Given the description of an element on the screen output the (x, y) to click on. 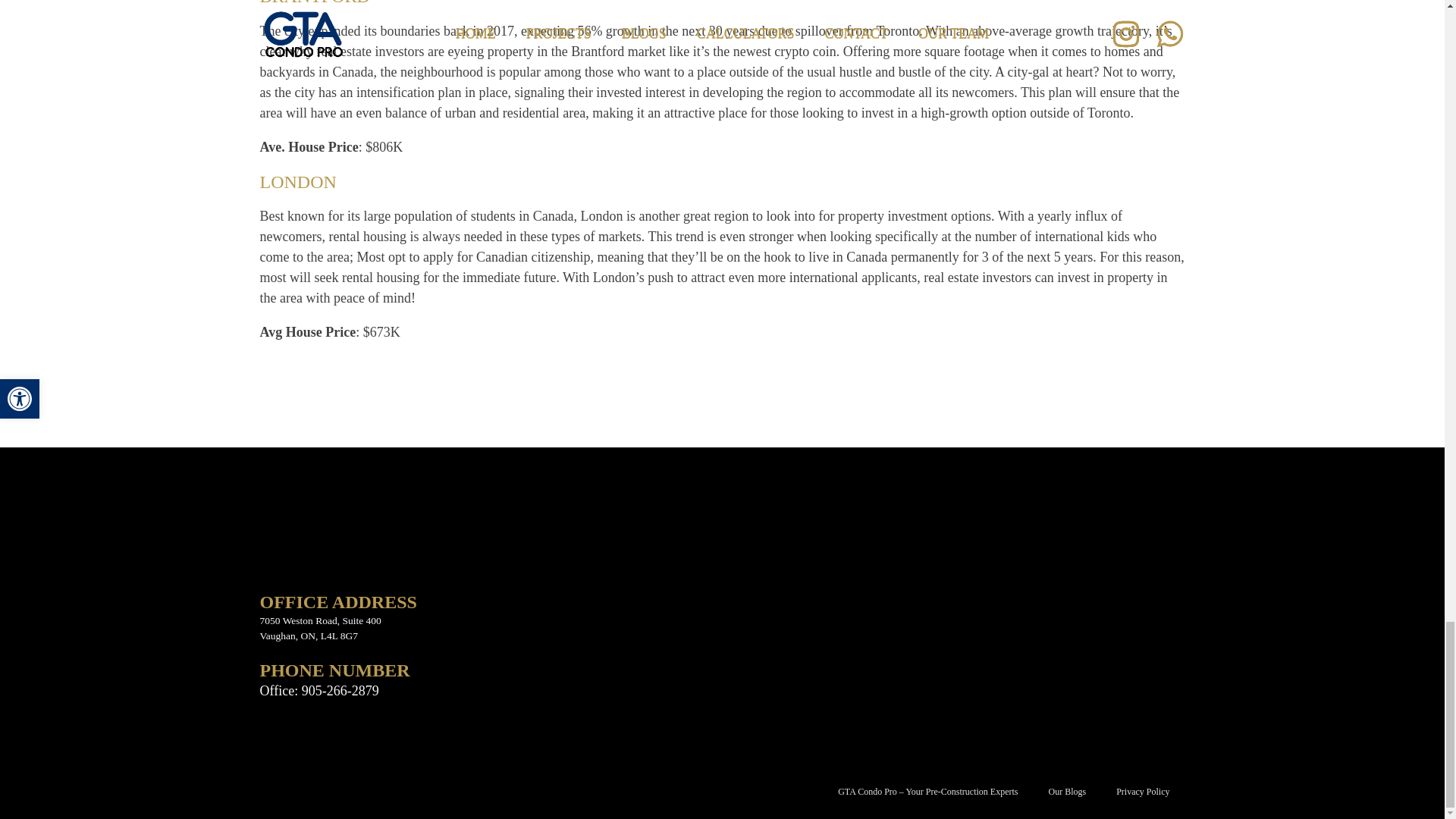
Our Blogs (1066, 791)
Privacy Policy (1142, 791)
Office: 905-266-2879 (318, 690)
